Given the description of an element on the screen output the (x, y) to click on. 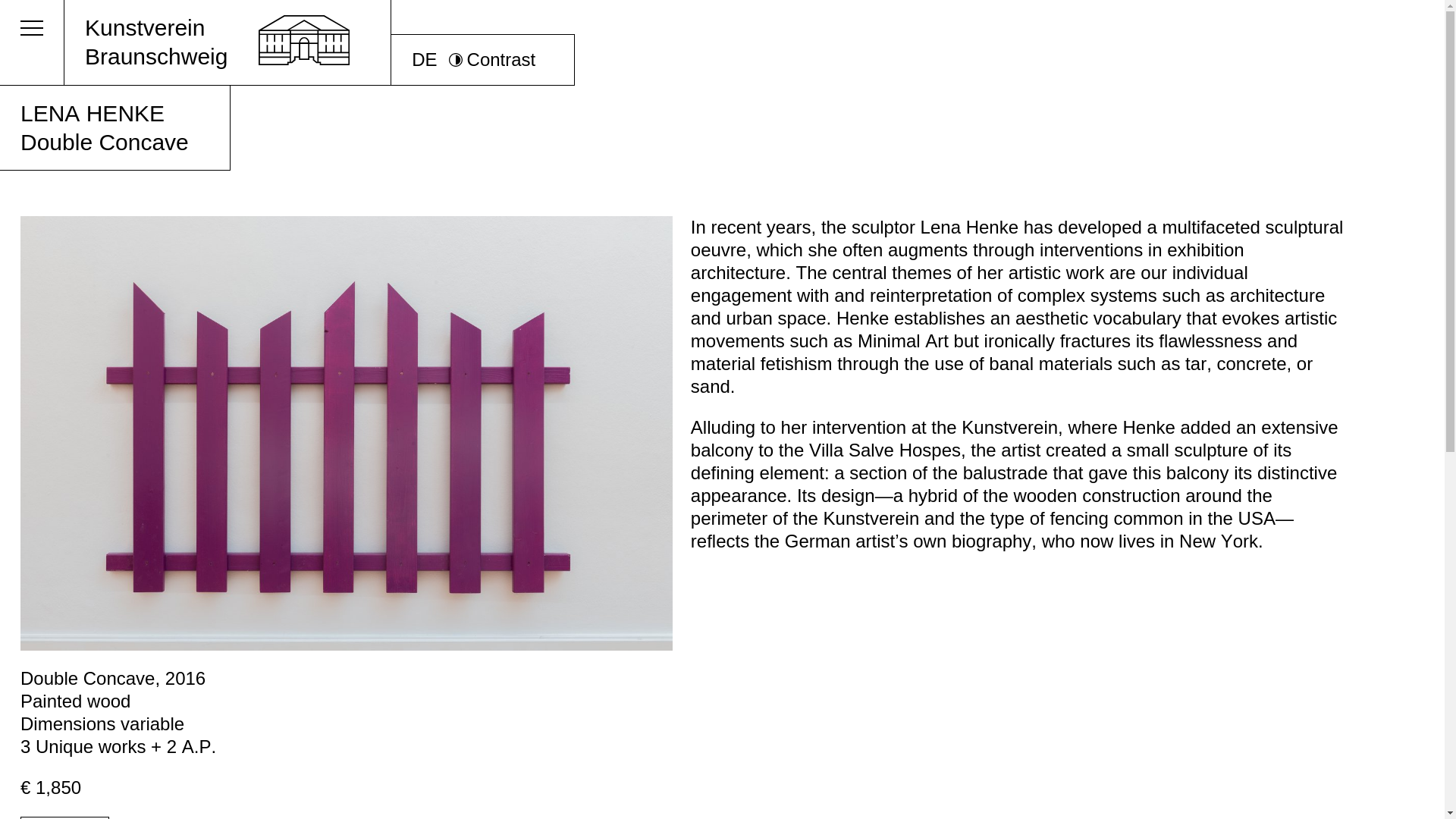
Order (64, 817)
DE (227, 42)
click to zoom-in (424, 59)
